Given the description of an element on the screen output the (x, y) to click on. 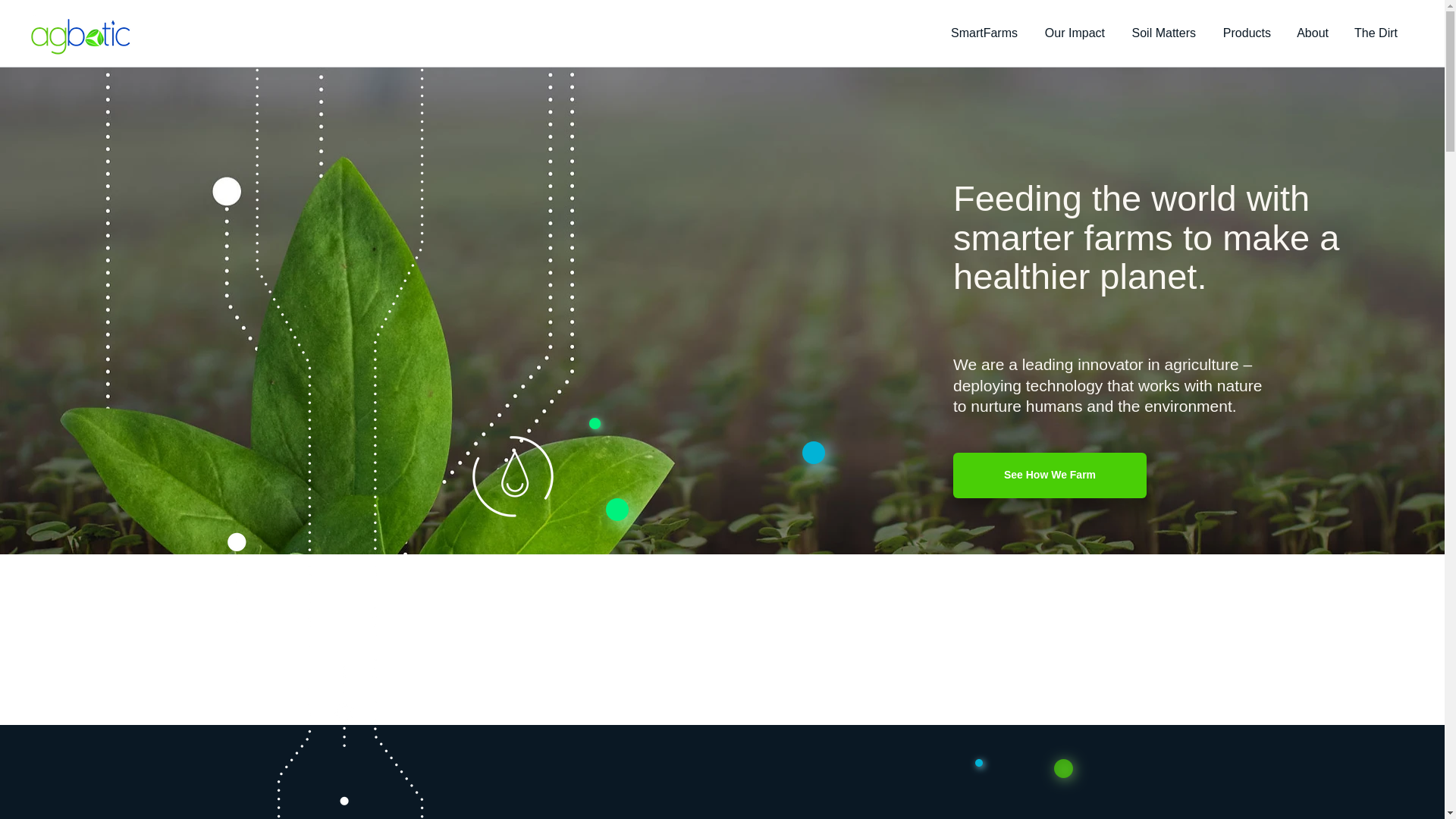
SmartFarms (982, 33)
The Dirt (1374, 33)
Soil Matters (1161, 33)
See How We Farm (1050, 474)
Our Impact (1072, 33)
Products (1244, 33)
About (1310, 33)
